Given the description of an element on the screen output the (x, y) to click on. 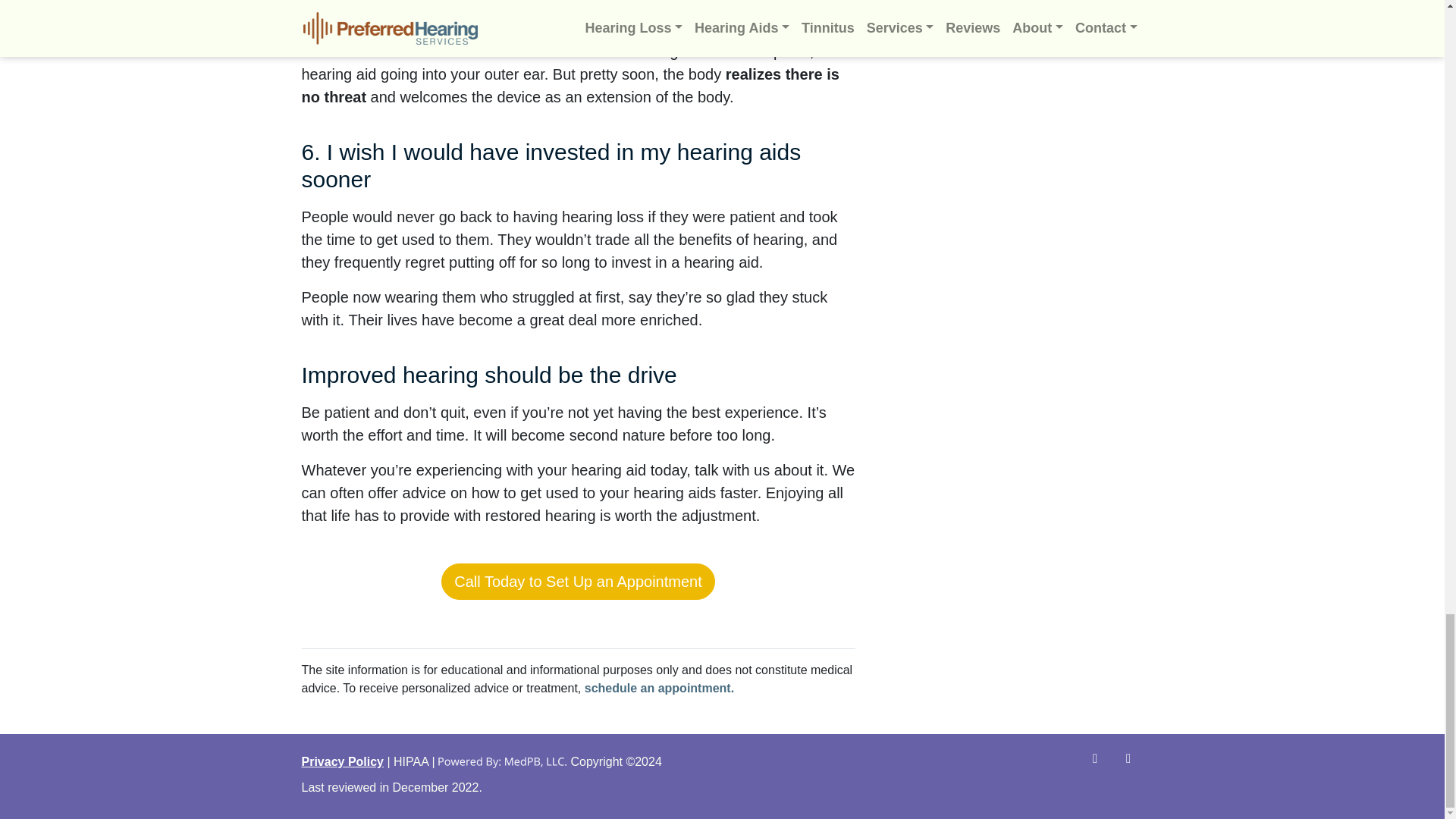
MedPB: Medical Practice Building, Marketing, Websites (502, 761)
